Given the description of an element on the screen output the (x, y) to click on. 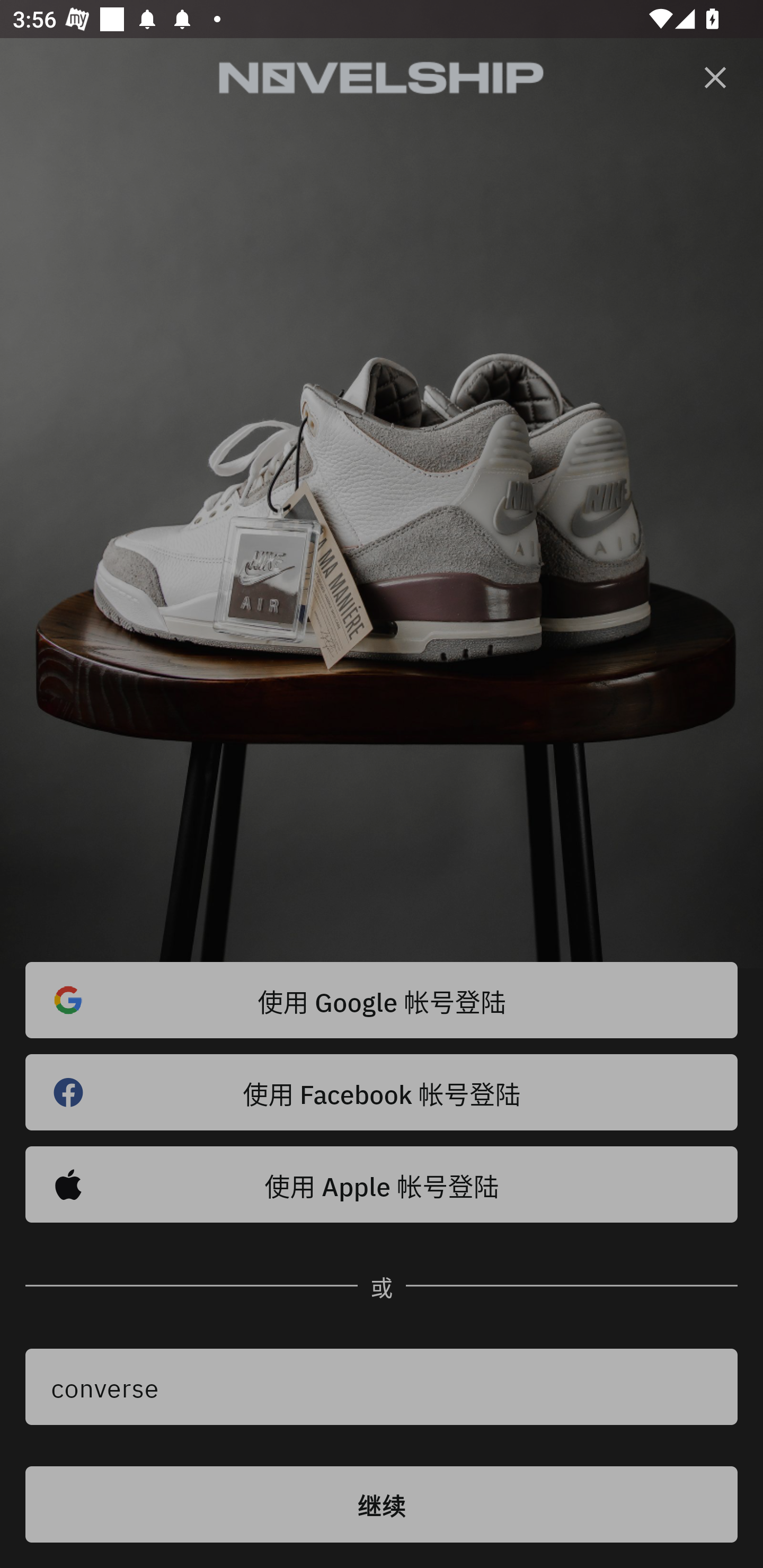
使用 Google 帐号登陆 (381, 1000)
使用 Facebook 帐号登陆 󰈌 (381, 1091)
 使用 Apple 帐号登陆 (381, 1184)
converse (381, 1386)
继续 (381, 1504)
